Given the description of an element on the screen output the (x, y) to click on. 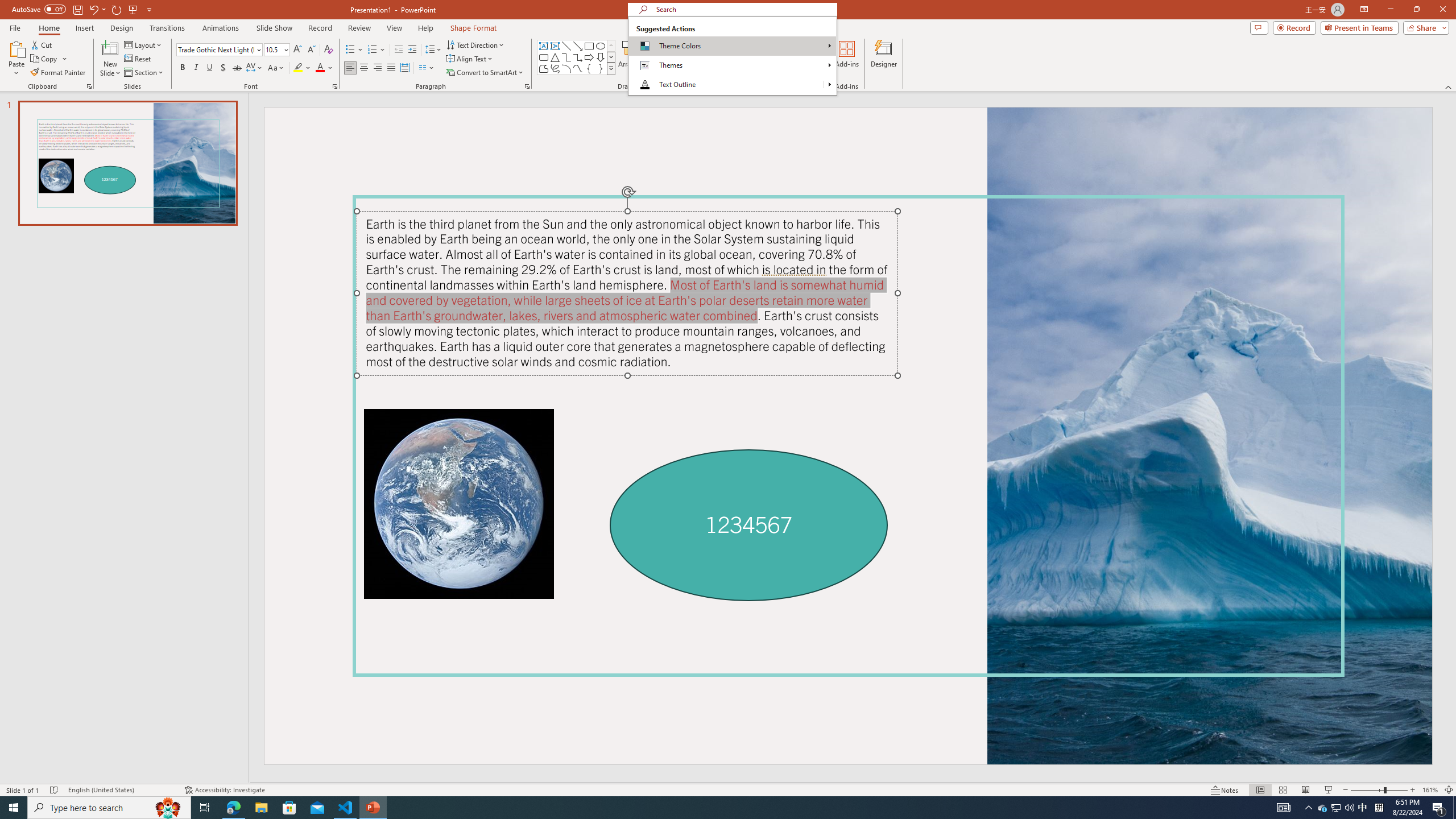
Shape Outline Teal, Accent 1 (675, 56)
